Given the description of an element on the screen output the (x, y) to click on. 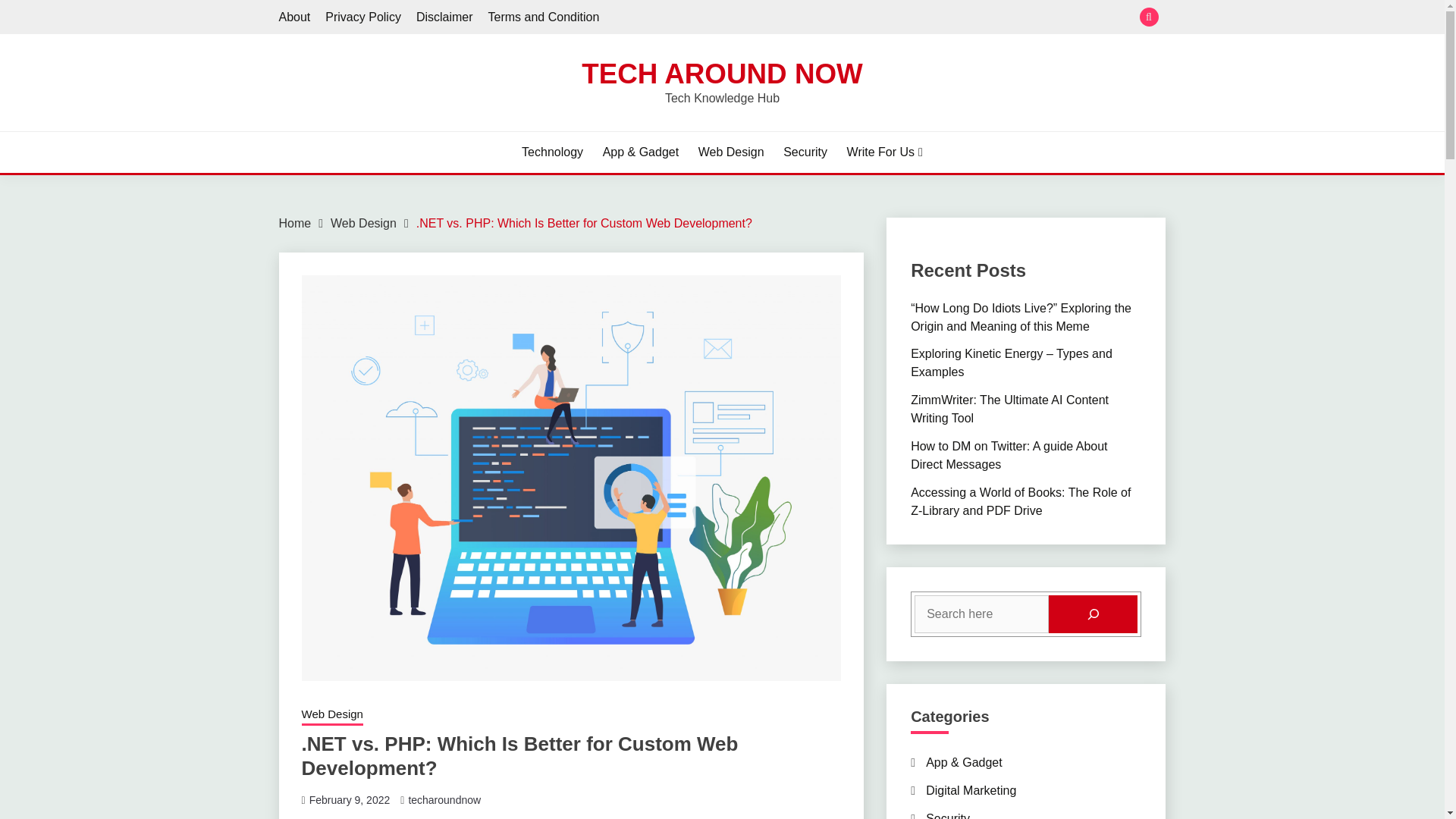
Web Design (731, 152)
Web Design (363, 223)
Web Design (331, 715)
Technology (552, 152)
Search (832, 18)
Home (295, 223)
techaroundnow (443, 799)
.NET vs. PHP: Which Is Better for Custom Web Development? (584, 223)
Terms and Condition (543, 16)
Write For Us (885, 152)
